Given the description of an element on the screen output the (x, y) to click on. 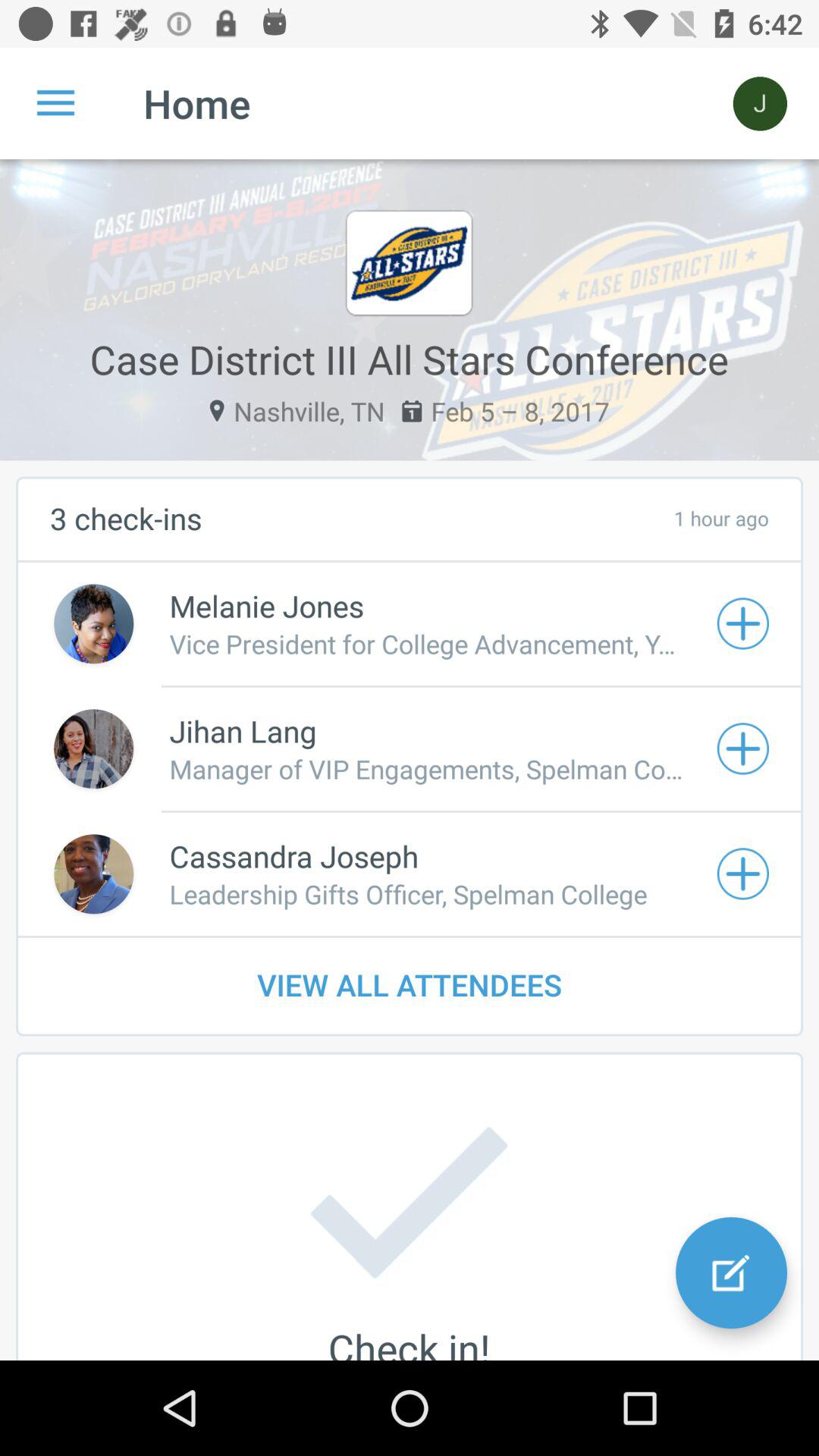
go to third frame under 3 checkins (409, 874)
